Given the description of an element on the screen output the (x, y) to click on. 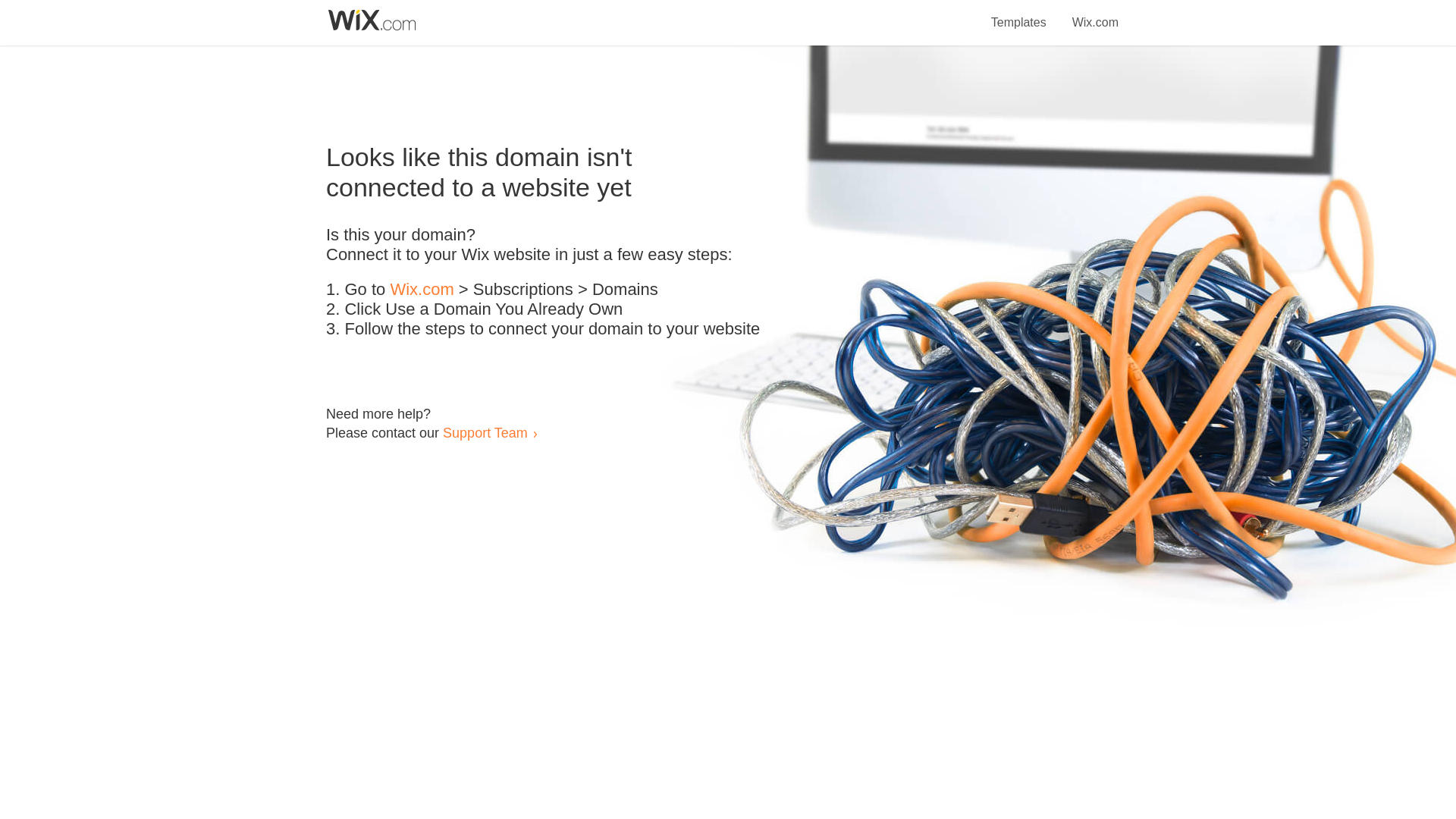
Wix.com (421, 289)
Templates (1018, 14)
Wix.com (1095, 14)
Support Team (484, 432)
